Given the description of an element on the screen output the (x, y) to click on. 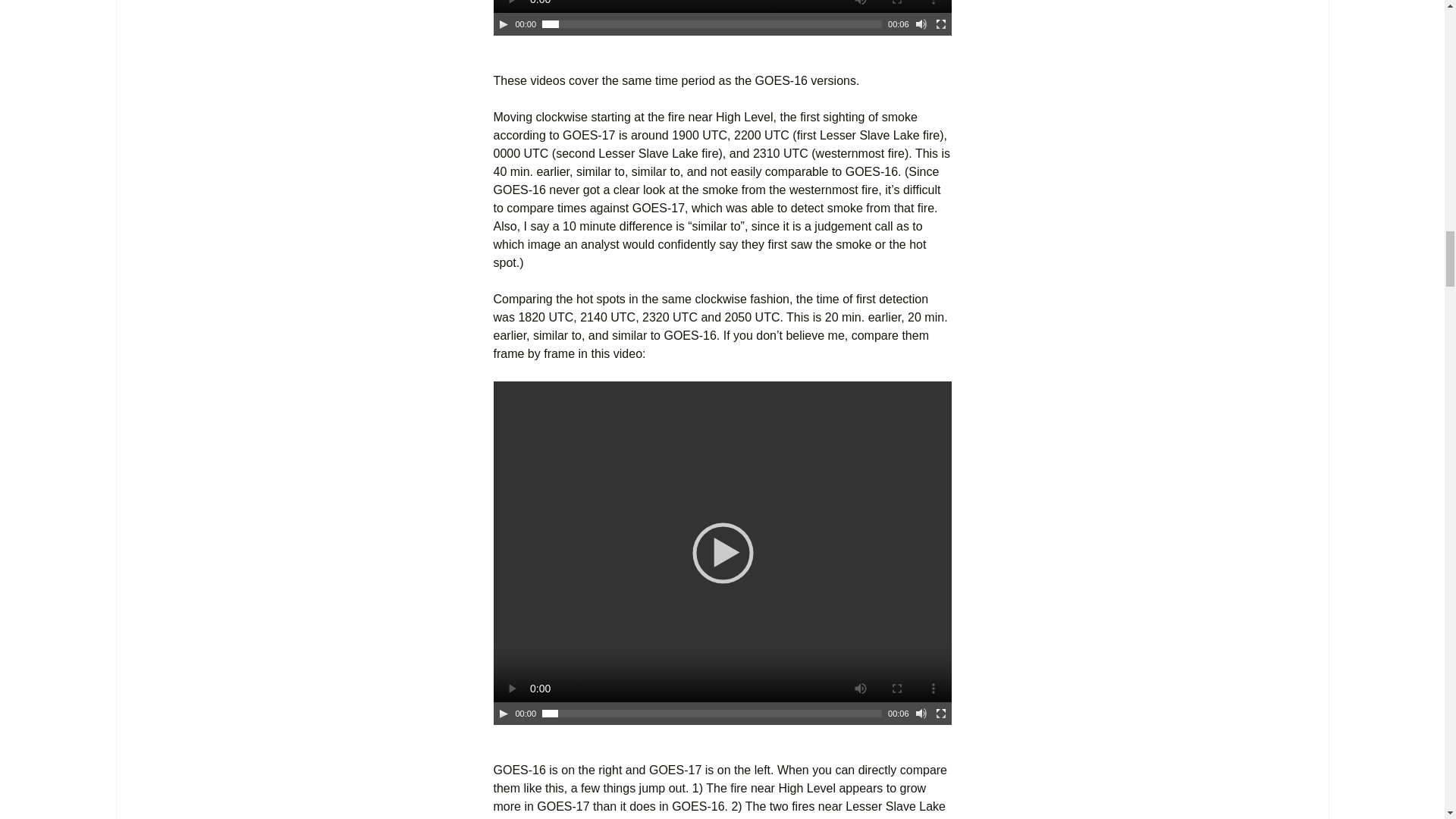
Play (503, 24)
